Given the description of an element on the screen output the (x, y) to click on. 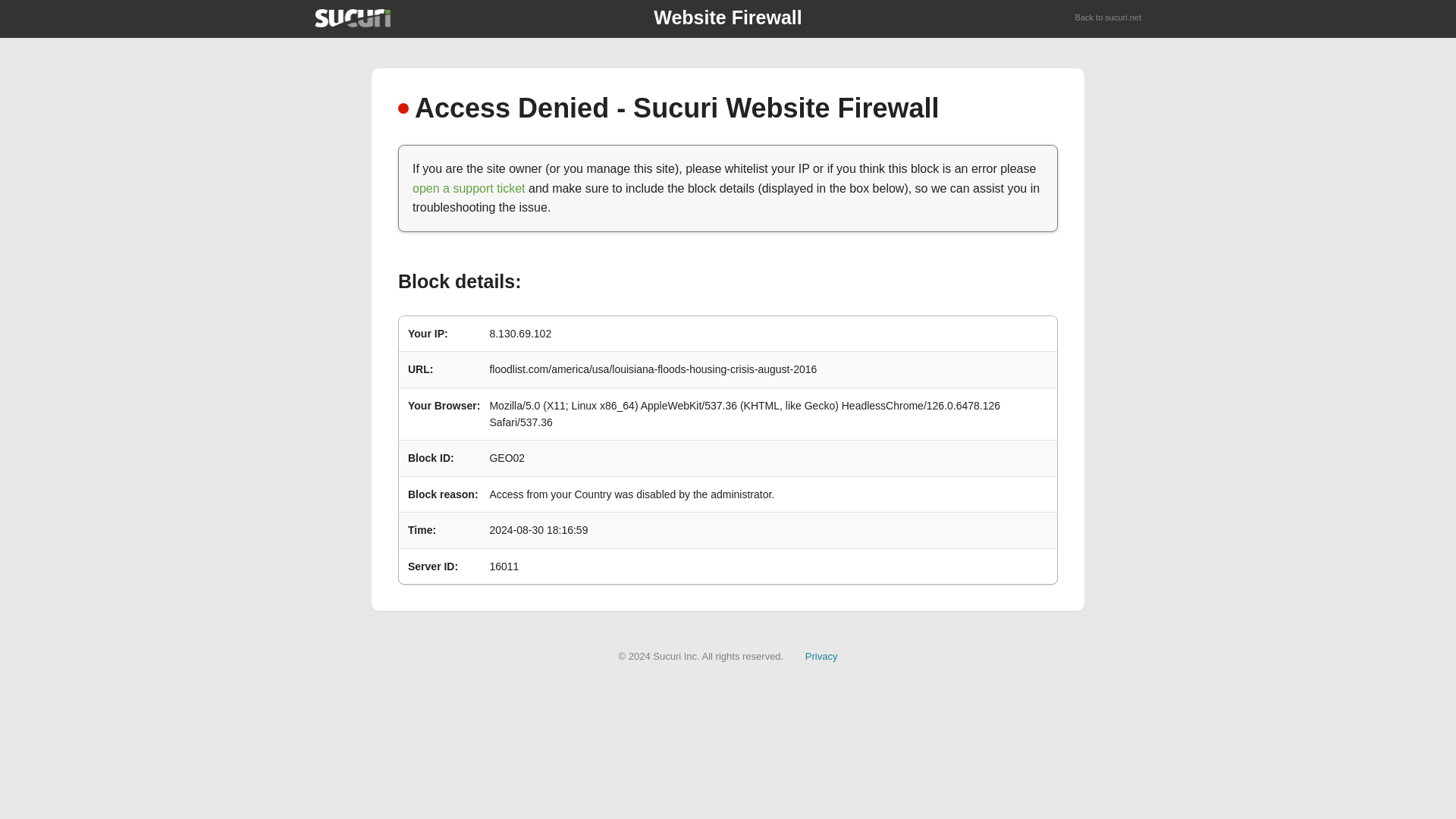
open a support ticket (468, 187)
Back to sucuri.net (1108, 18)
Privacy (821, 655)
